Given the description of an element on the screen output the (x, y) to click on. 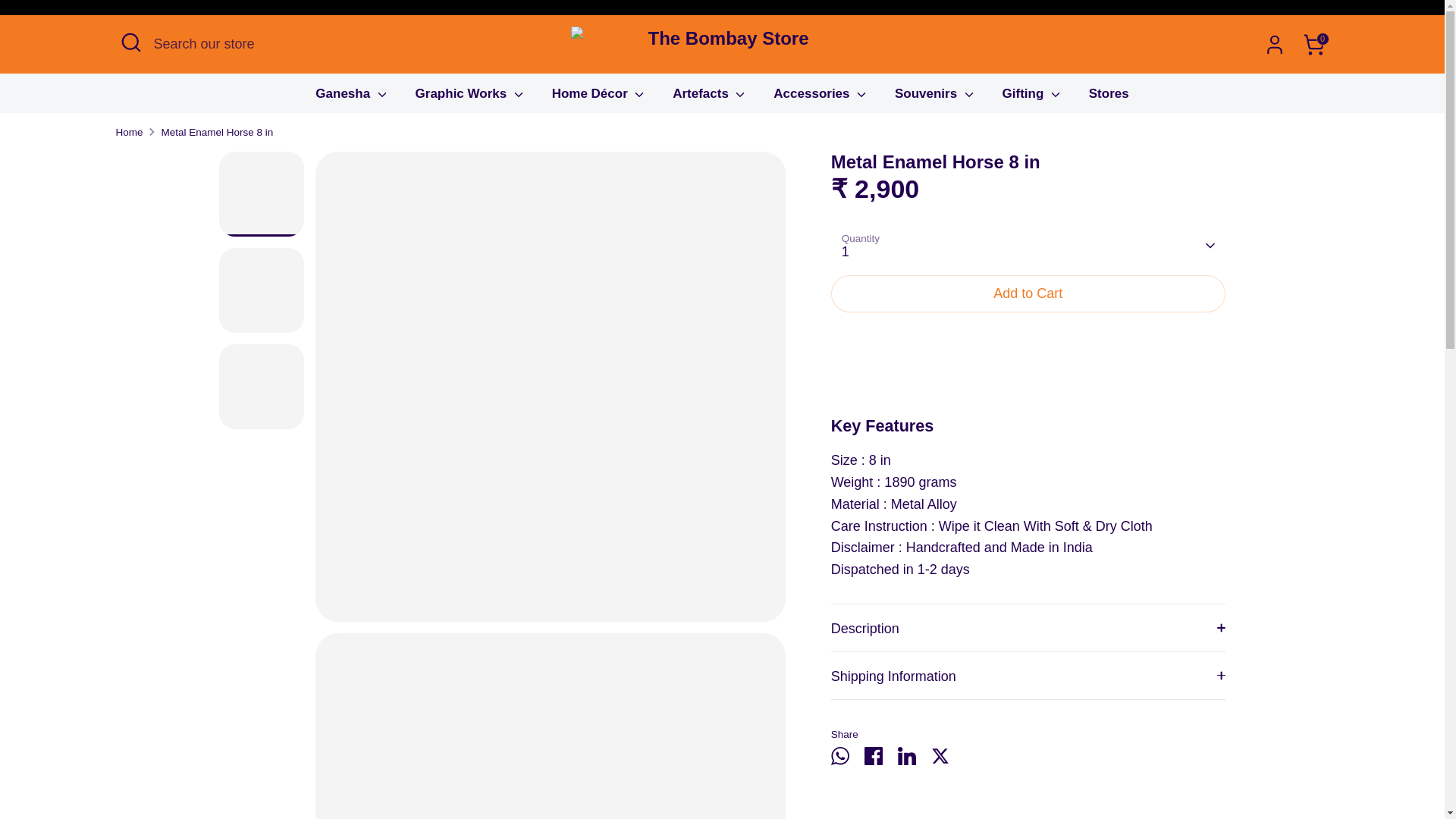
0 (1312, 43)
